Given the description of an element on the screen output the (x, y) to click on. 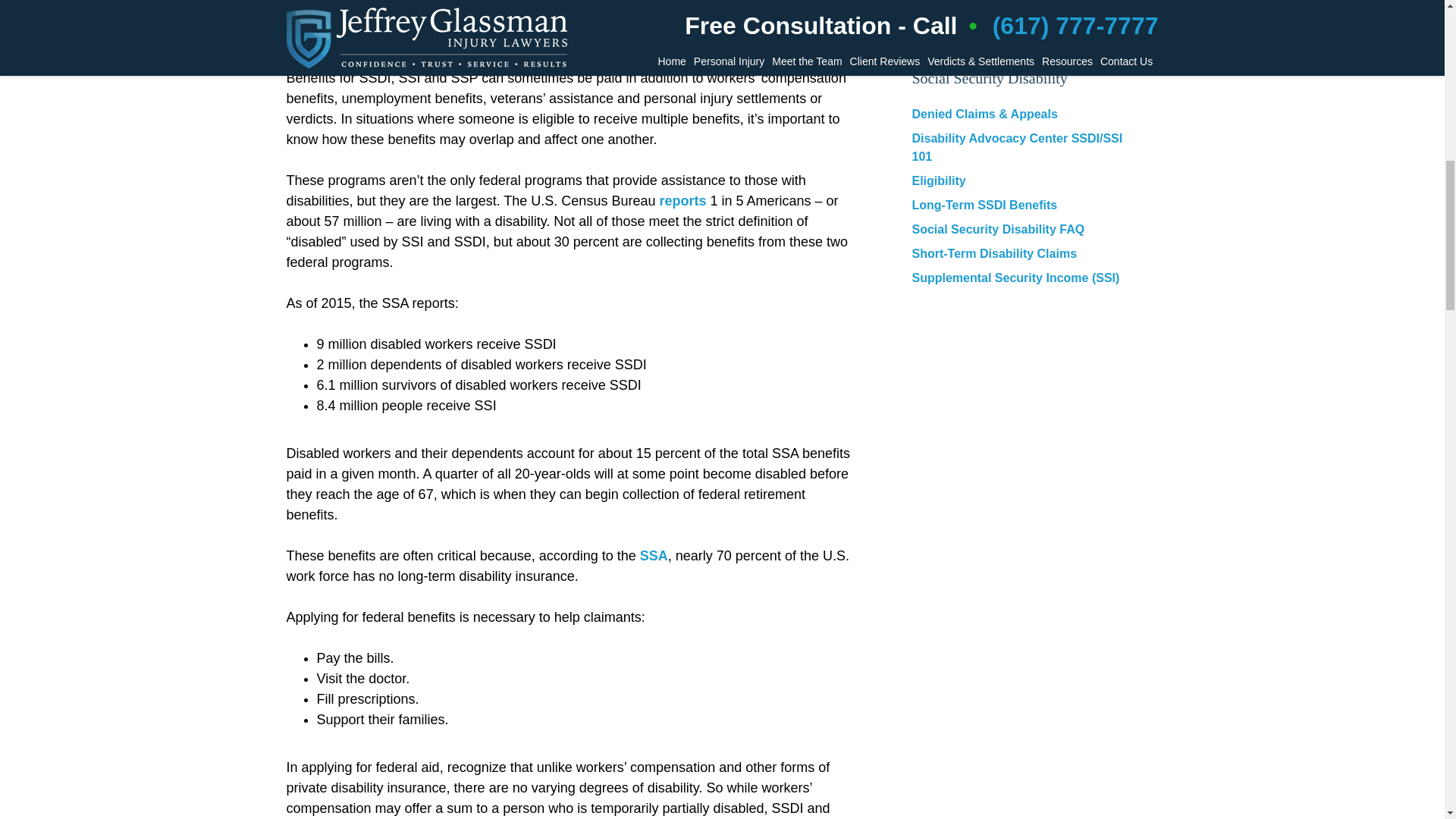
reports (682, 200)
Social Security Disability FAQs (1008, 23)
SSA (654, 555)
Social Security Disability (989, 78)
